Given the description of an element on the screen output the (x, y) to click on. 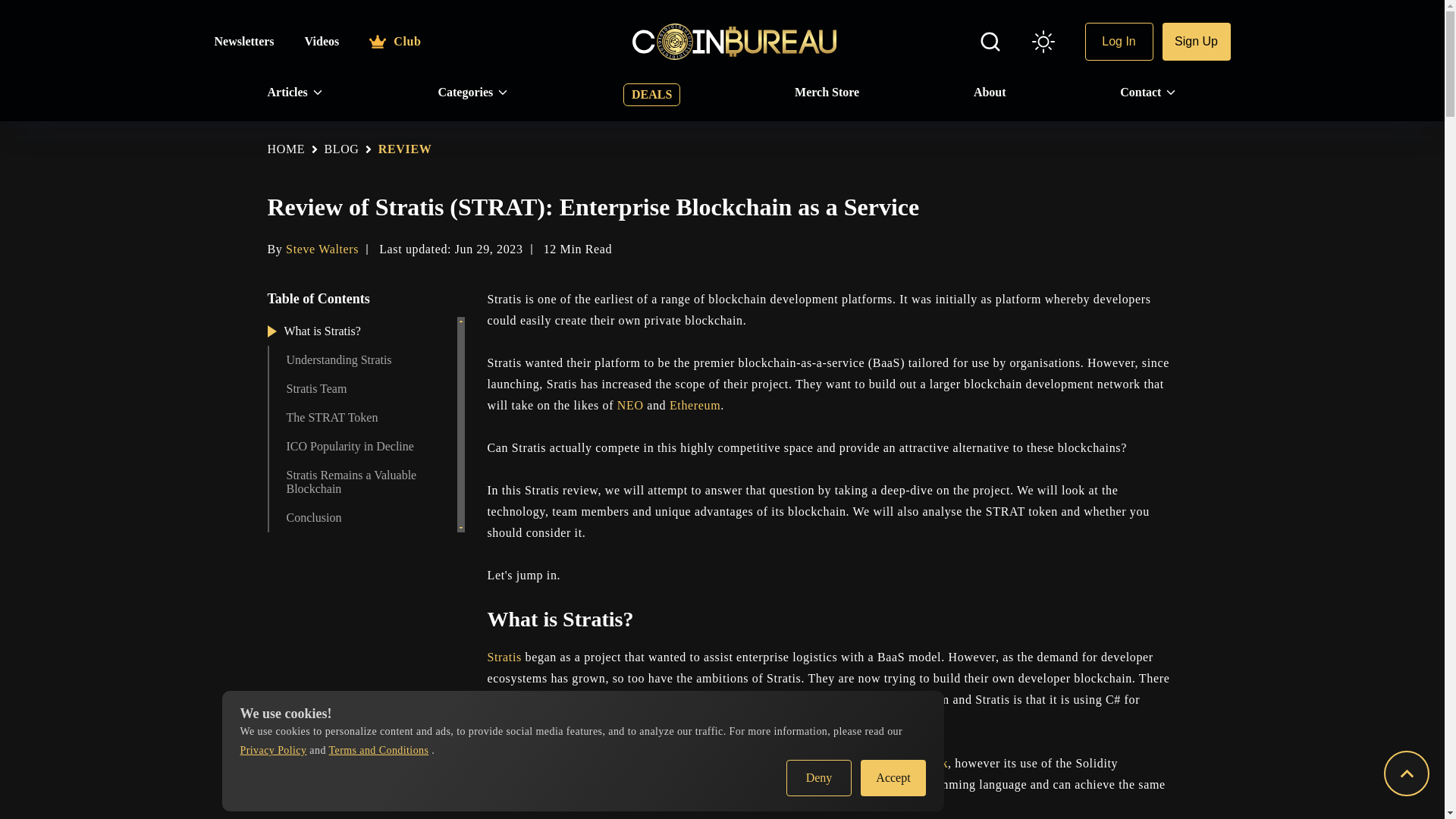
Videos (322, 41)
Sign Up (1195, 41)
DEALS (651, 94)
Log In (1118, 41)
Merch Store (826, 92)
Newsletters (243, 41)
Sign Up (1195, 41)
About (990, 92)
Club (394, 41)
Log In (1118, 41)
